Given the description of an element on the screen output the (x, y) to click on. 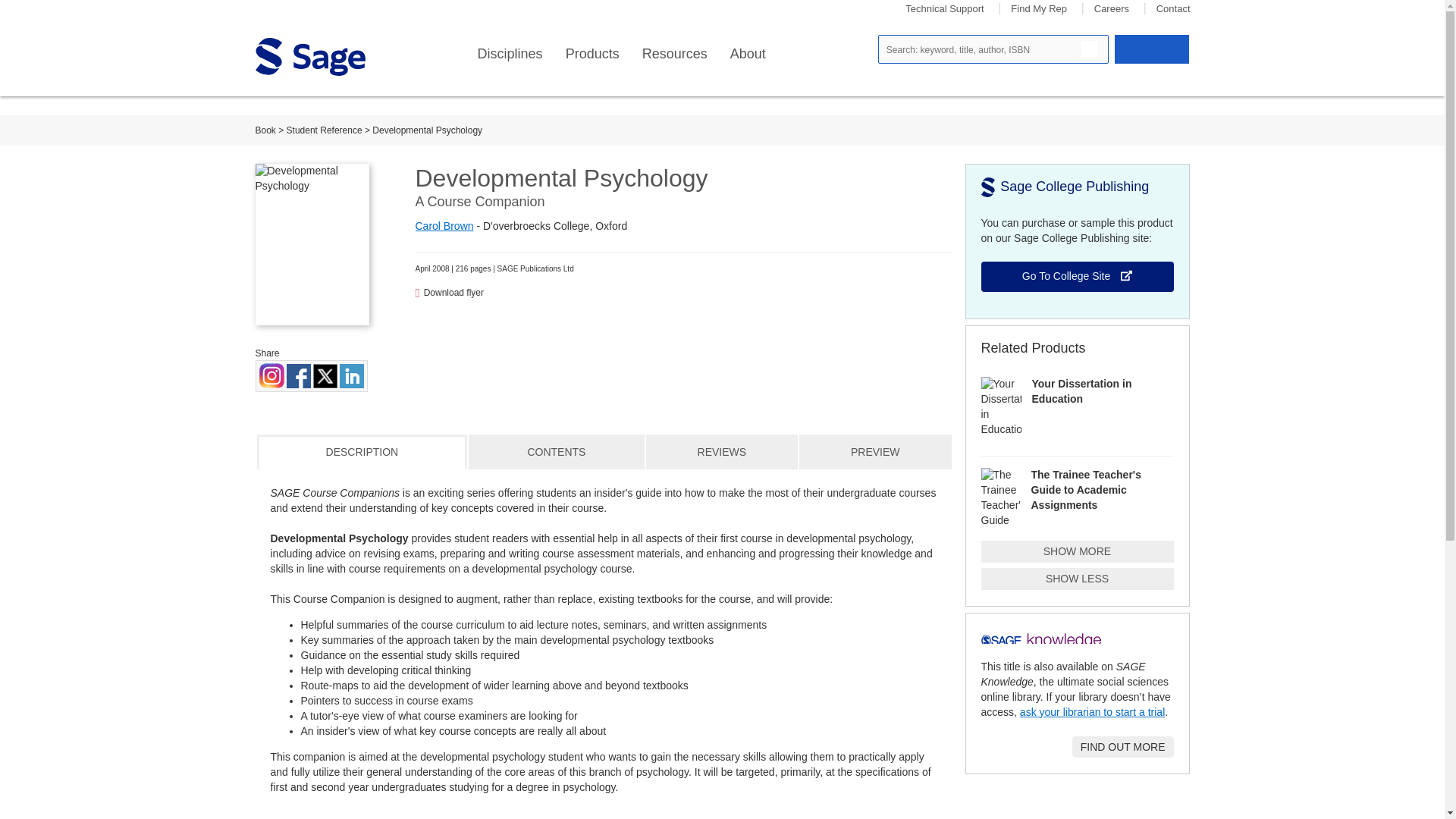
Contact (1173, 8)
Disciplines (509, 53)
Careers (1111, 8)
Find My Rep (1038, 8)
Technical Support (944, 8)
Sage logo: link back to homepage (309, 56)
Search (1089, 48)
